Given the description of an element on the screen output the (x, y) to click on. 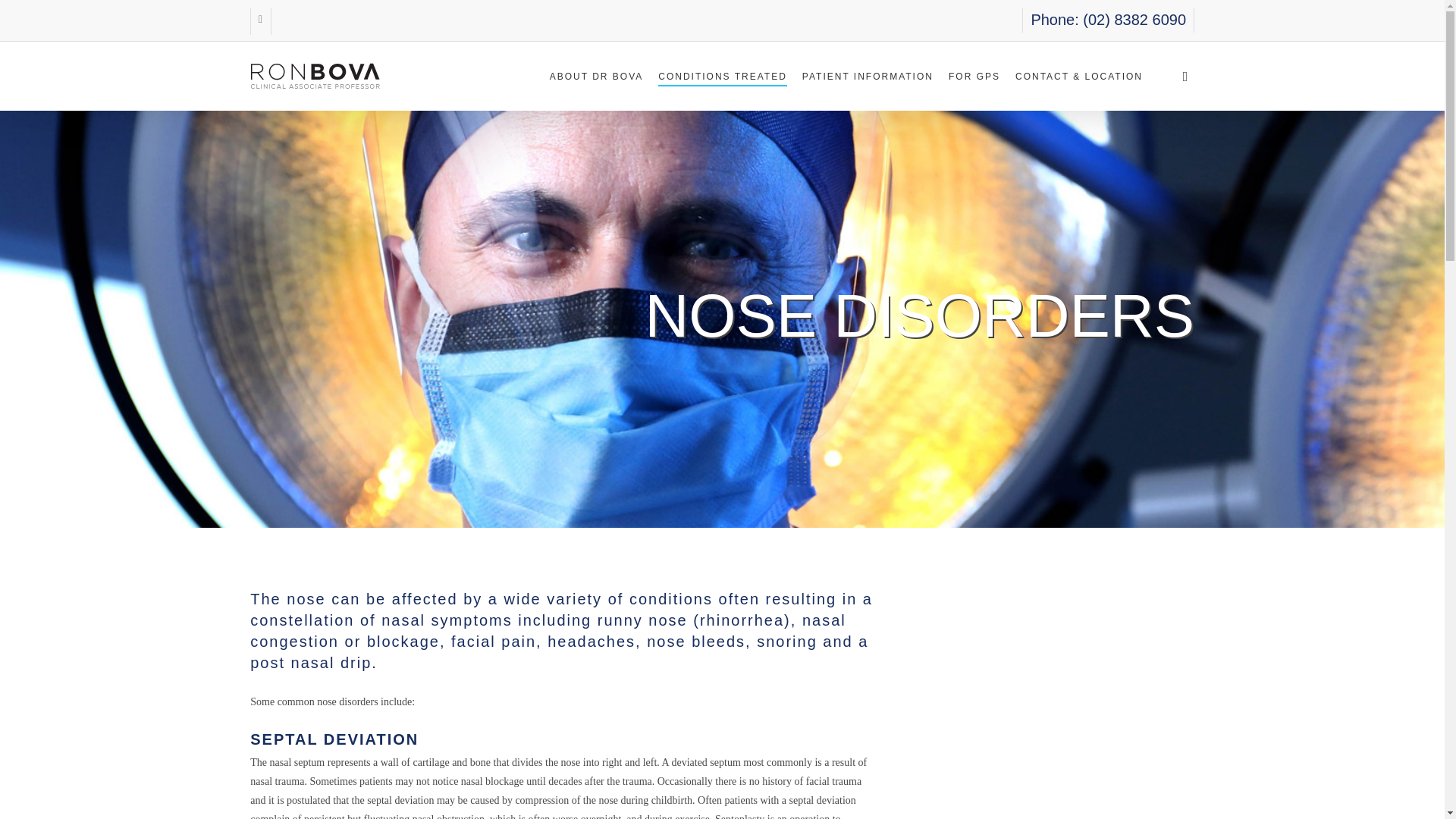
PATIENT INFORMATION (867, 75)
CONDITIONS TREATED (722, 75)
FOR GPS (974, 75)
ABOUT DR BOVA (596, 75)
search (1184, 75)
linkedin (260, 21)
